Given the description of an element on the screen output the (x, y) to click on. 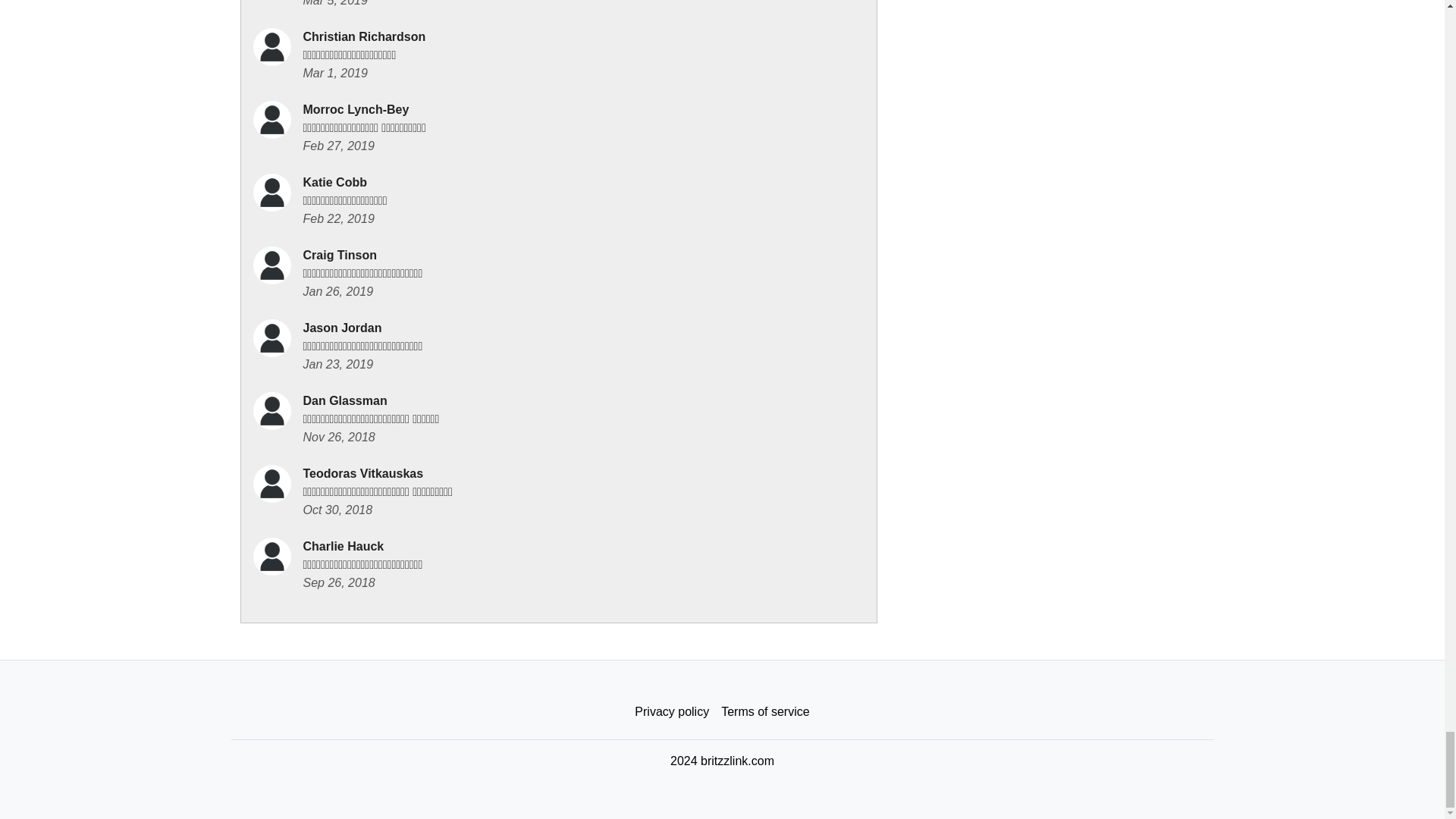
Privacy policy (671, 711)
Terms of service (764, 711)
